Given the description of an element on the screen output the (x, y) to click on. 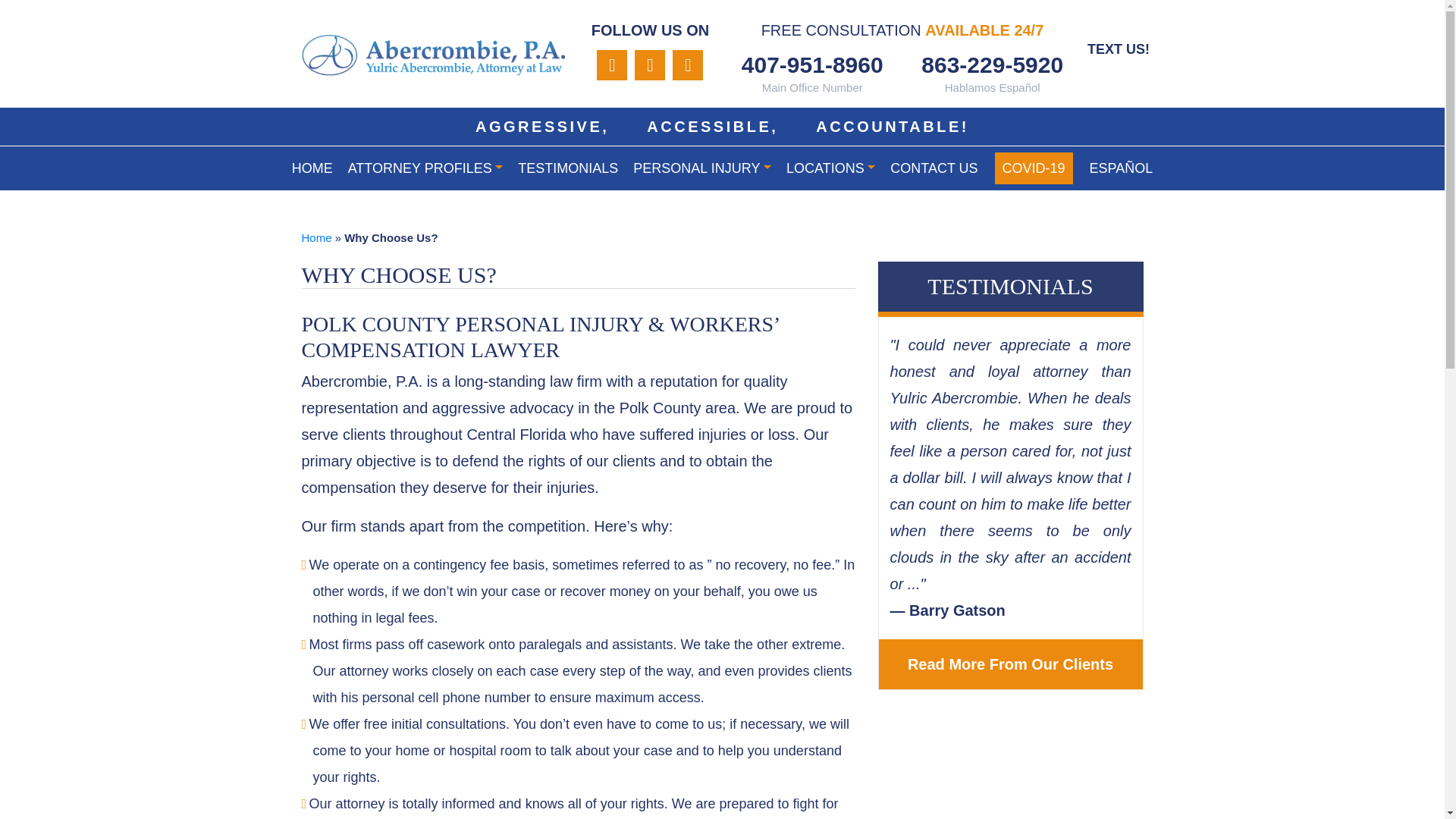
Our Facebook Page (687, 64)
TESTIMONIALS (568, 168)
Text Us! (1118, 47)
Main Office Number (812, 64)
Our Google My Business Page (649, 64)
407-951-8960 (812, 64)
HOME (311, 168)
Our Instagram Page (611, 64)
ATTORNEY PROFILES (425, 168)
863-229-5920 (992, 64)
LOCATIONS (830, 168)
Abercrombie, P.A. (434, 55)
CONTACT US (933, 168)
TEXT US! (1118, 47)
COVID-19 (1033, 168)
